Given the description of an element on the screen output the (x, y) to click on. 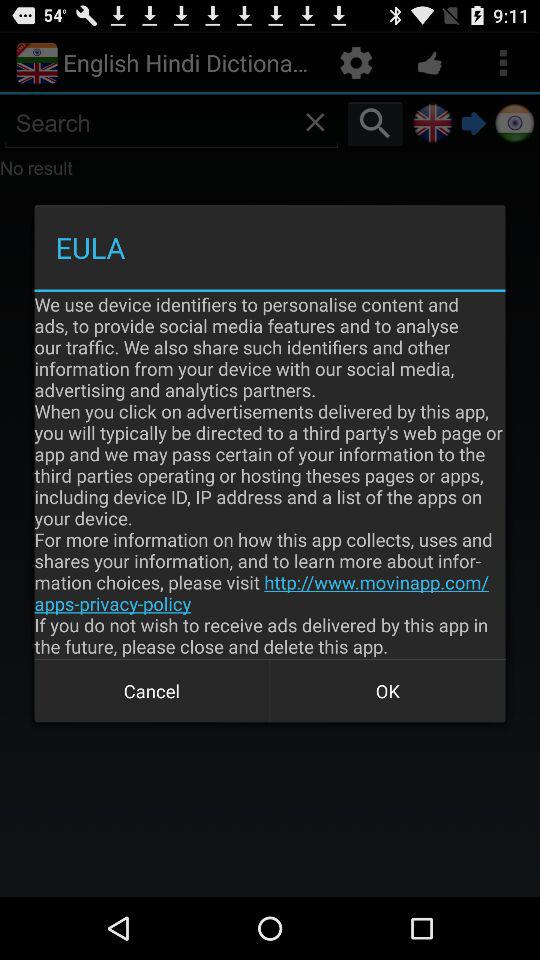
scroll to we use device (269, 475)
